Given the description of an element on the screen output the (x, y) to click on. 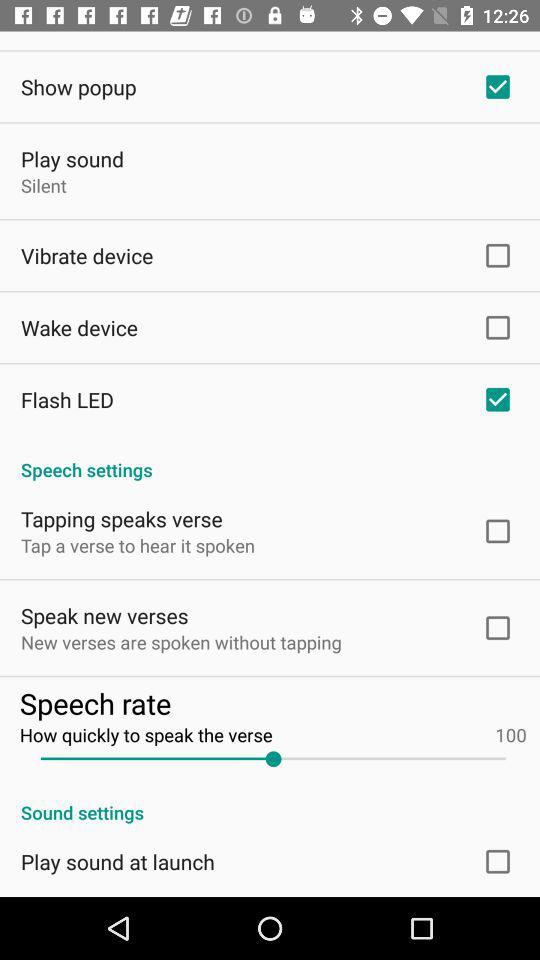
turn on how quickly to app (272, 734)
